Given the description of an element on the screen output the (x, y) to click on. 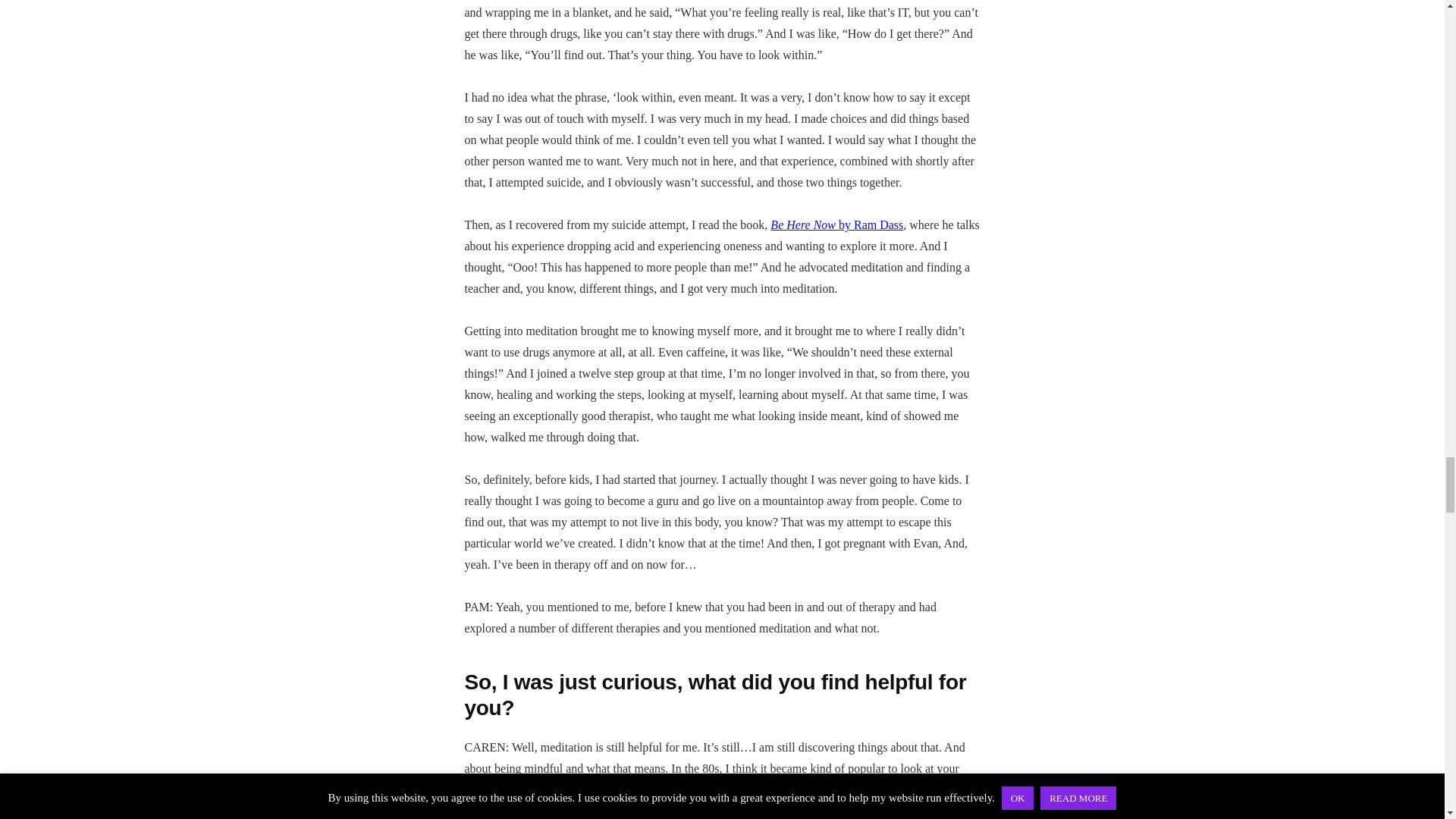
Be Here Now by Ram Dass (836, 224)
